Given the description of an element on the screen output the (x, y) to click on. 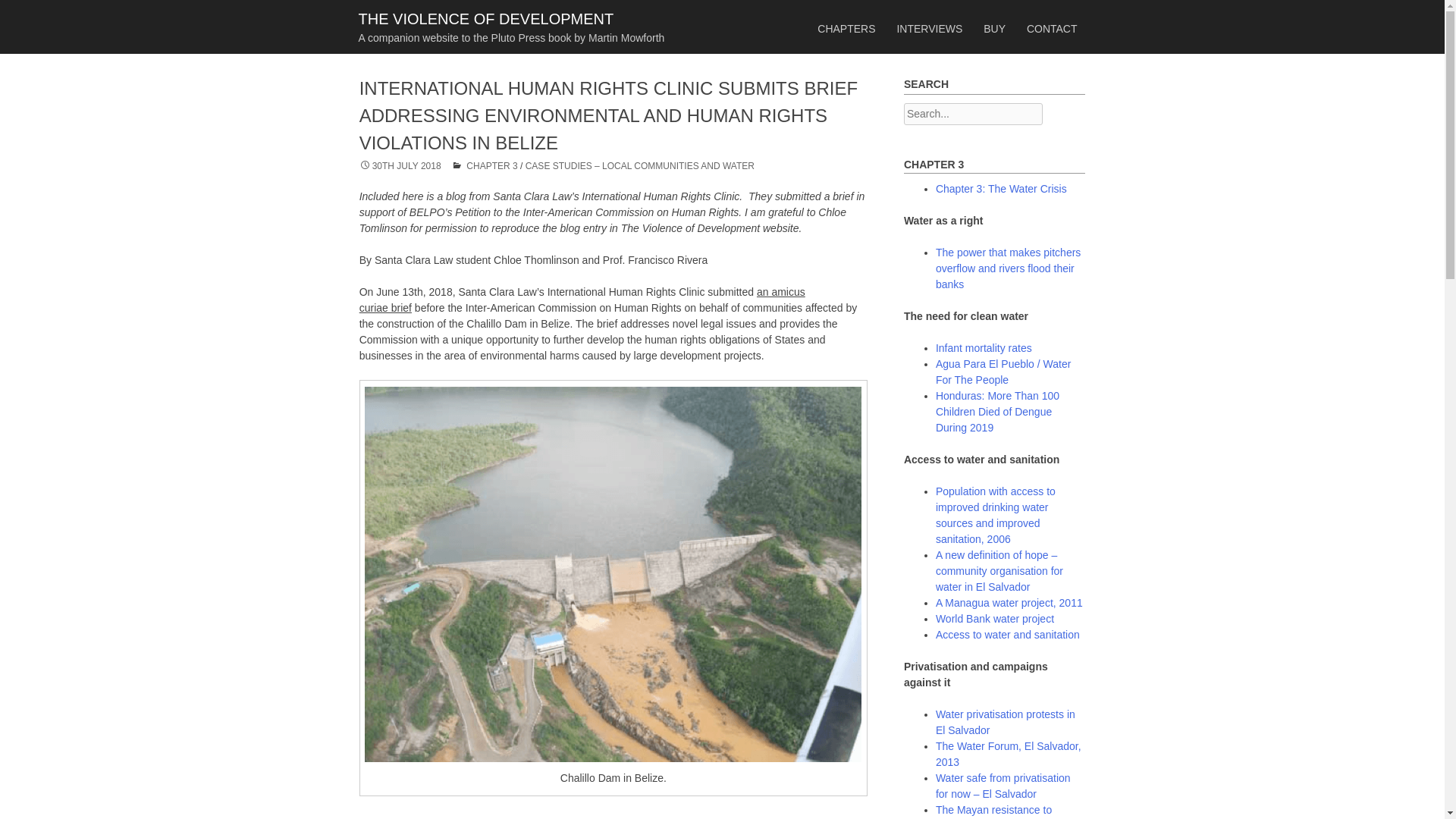
30TH JULY 2018 (400, 165)
BUY (994, 28)
CONTACT (1051, 28)
Chapter 3: The Water Crisis (1001, 188)
INTERVIEWS (928, 28)
Infant mortality rates (984, 347)
Search (24, 9)
CHAPTERS (845, 28)
CHAPTER 3 (490, 165)
A Managua water project, 2011 (1009, 603)
World Bank water project (995, 618)
THE VIOLENCE OF DEVELOPMENT (485, 18)
Honduras: More Than 100 Children Died of Dengue During 2019 (997, 411)
